Given the description of an element on the screen output the (x, y) to click on. 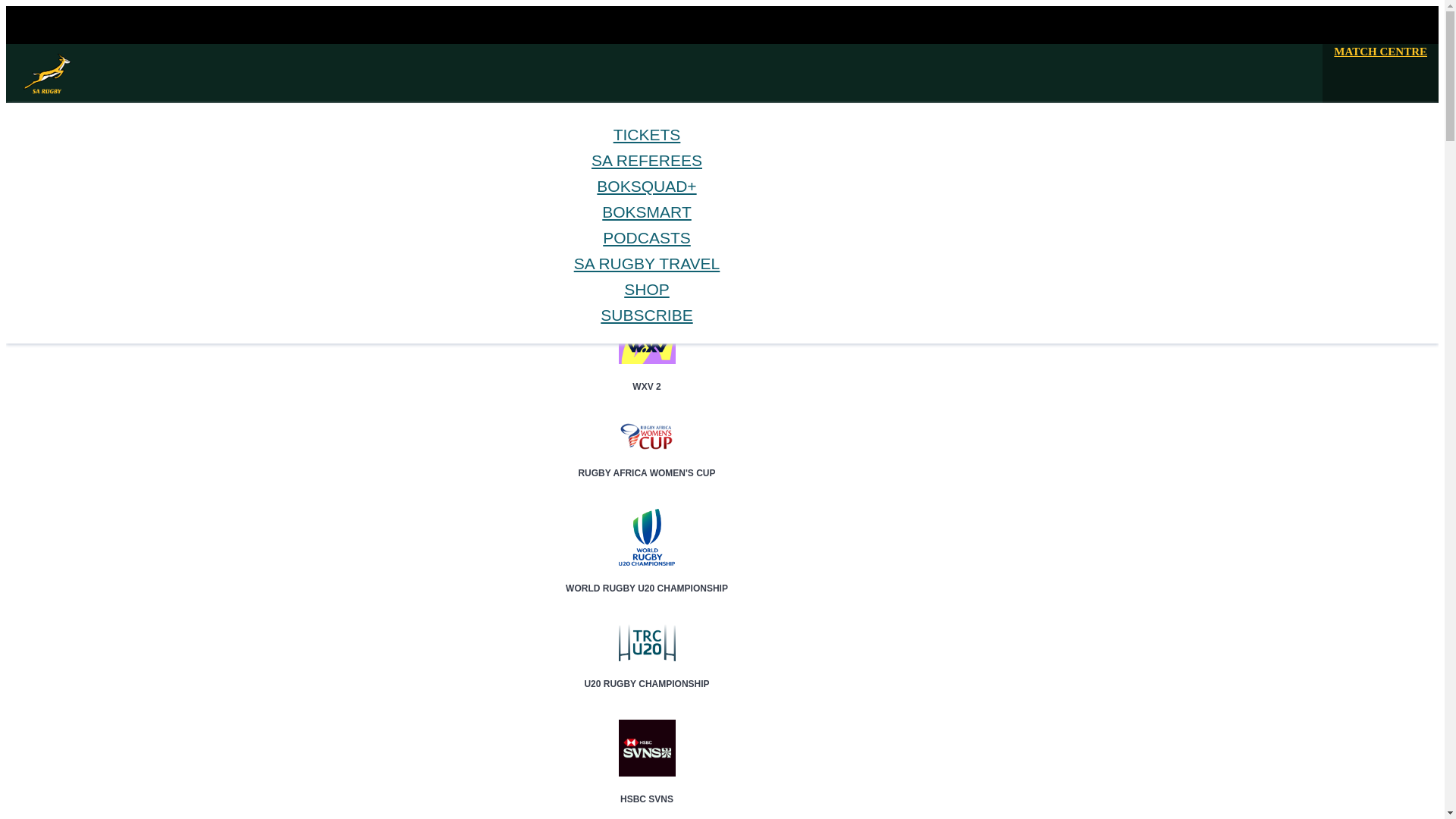
SPRINGBOKS (91, 191)
RUGBY AFRICA WOMEN'S CUP (647, 460)
MATCH CENTRE (1380, 51)
TICKETS (646, 134)
HSBC SVNS (647, 786)
U20 RUGBY CHAMPIONSHIP (647, 670)
BOKSMART (88, 243)
TOURNAMENTS (98, 216)
CASTLE LAGER RUGBY CHAMPS (647, 283)
WXV 2 (647, 373)
BOKSQUAD (87, 229)
SA REFEREES (646, 159)
MORE (74, 255)
WORLD RUGBY U20 CHAMPIONSHIP (647, 575)
